Given the description of an element on the screen output the (x, y) to click on. 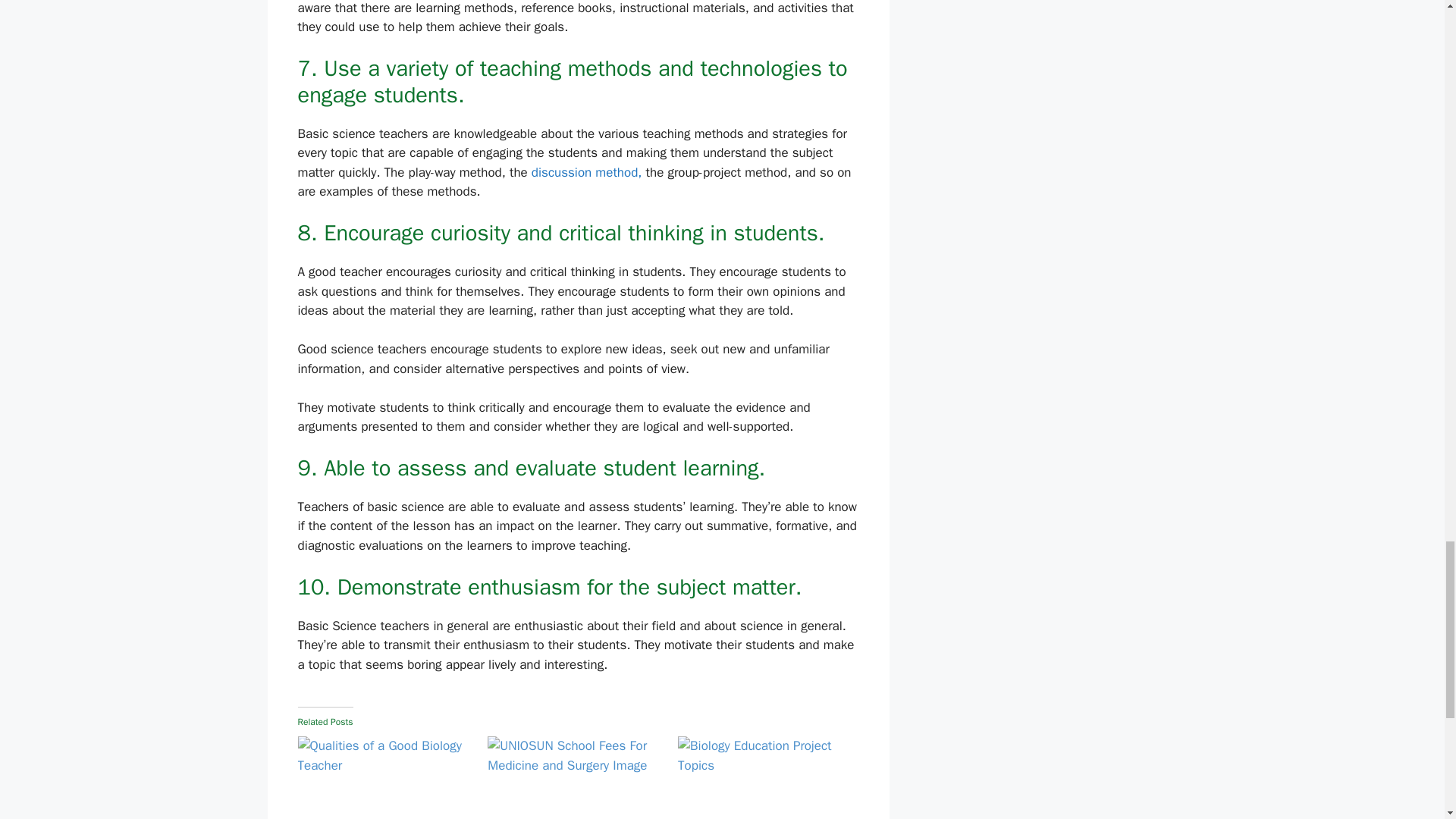
Free Biology Education Project Topics (765, 777)
UNIOSUN School Fees For Medicine and Surgery (574, 777)
discussion method, (588, 172)
Qualities of a Good Biology Teacher (384, 777)
